Given the description of an element on the screen output the (x, y) to click on. 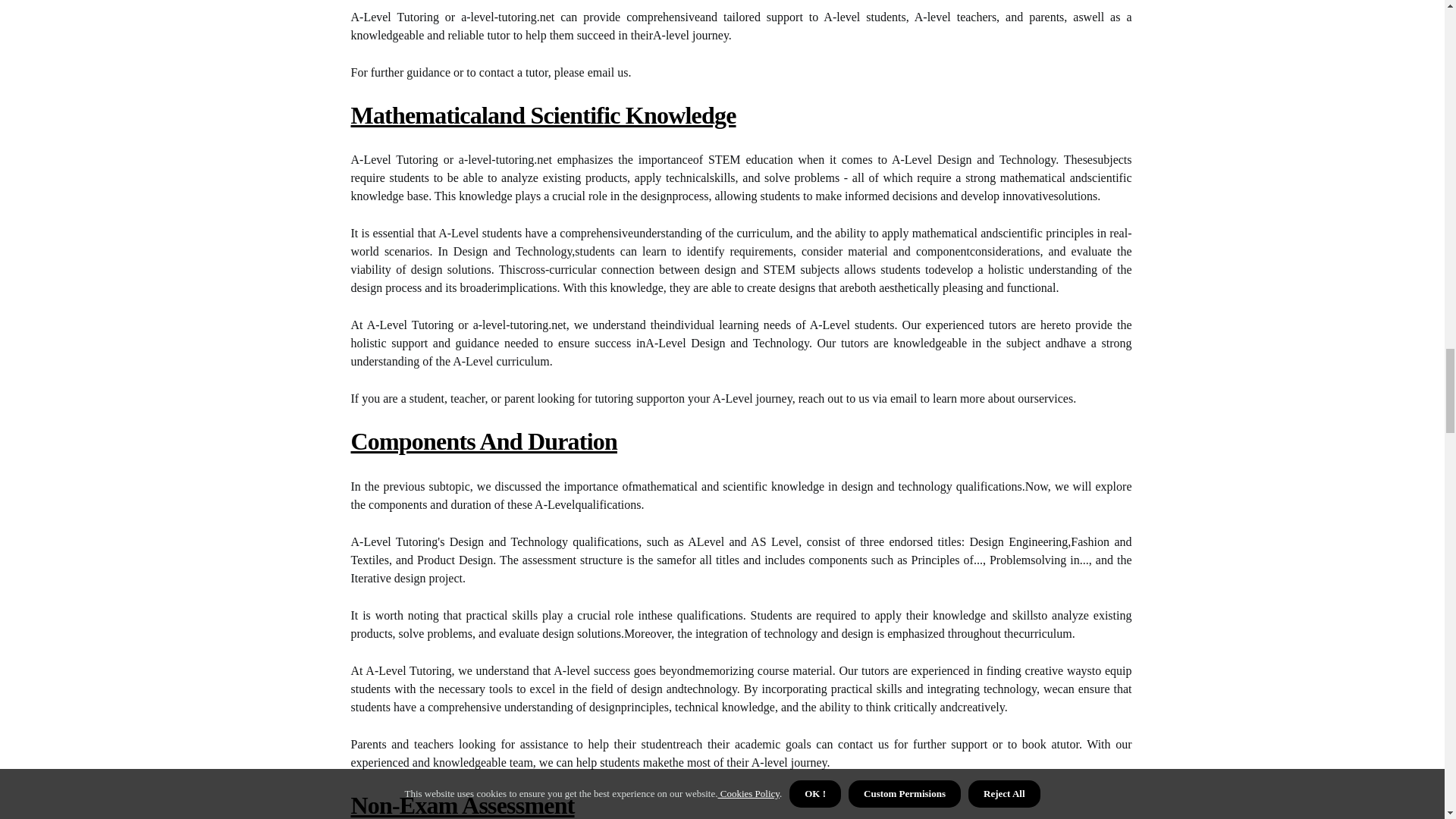
Components And Duration (482, 441)
Non-Exam Assessment (461, 805)
Mathematicaland Scientific Knowledge (542, 114)
